Given the description of an element on the screen output the (x, y) to click on. 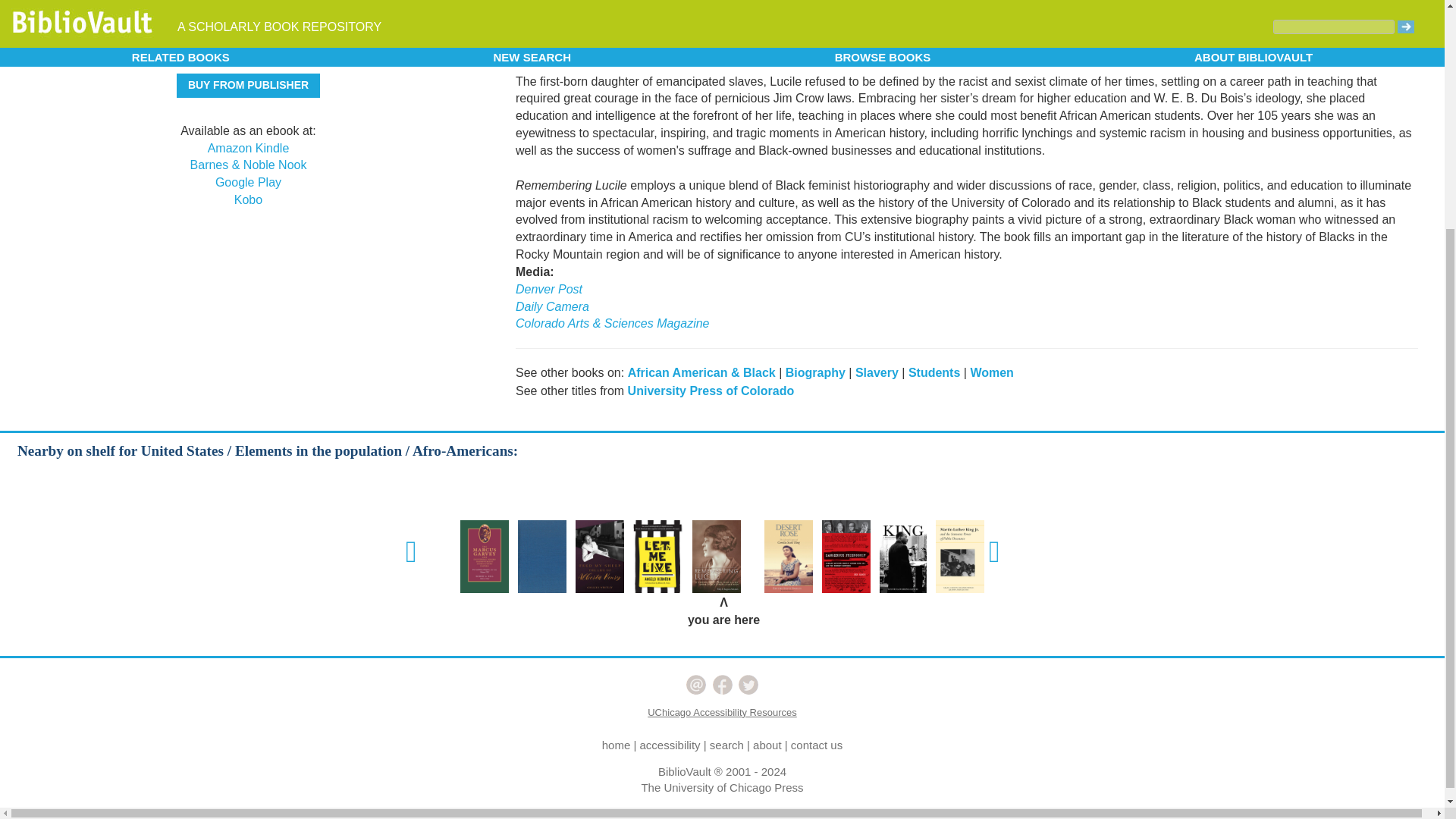
Kobo (248, 199)
Amazon Kindle (248, 147)
BUY FROM PUBLISHER (248, 85)
Google Play (248, 182)
